Given the description of an element on the screen output the (x, y) to click on. 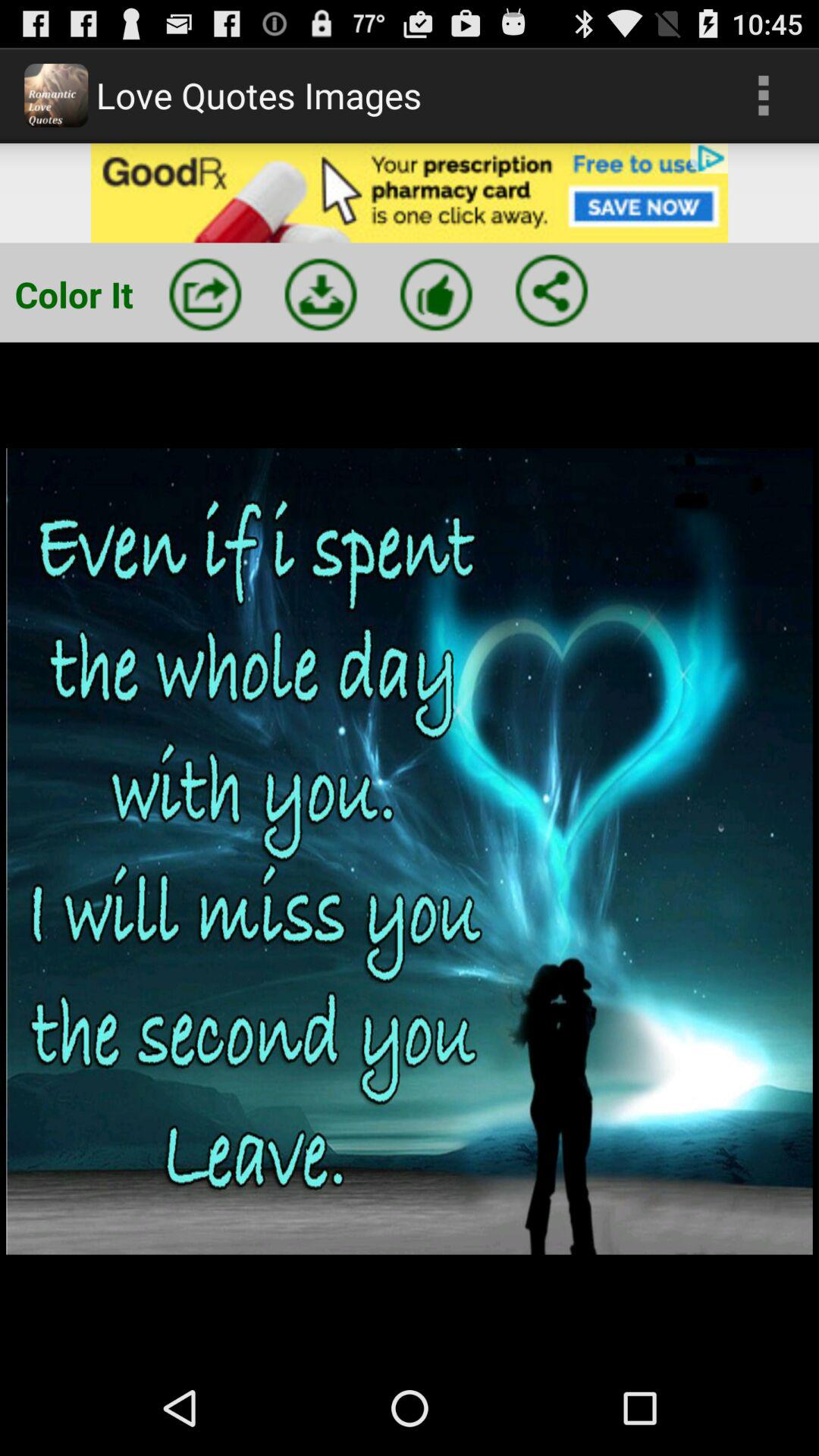
archive button (320, 294)
